Given the description of an element on the screen output the (x, y) to click on. 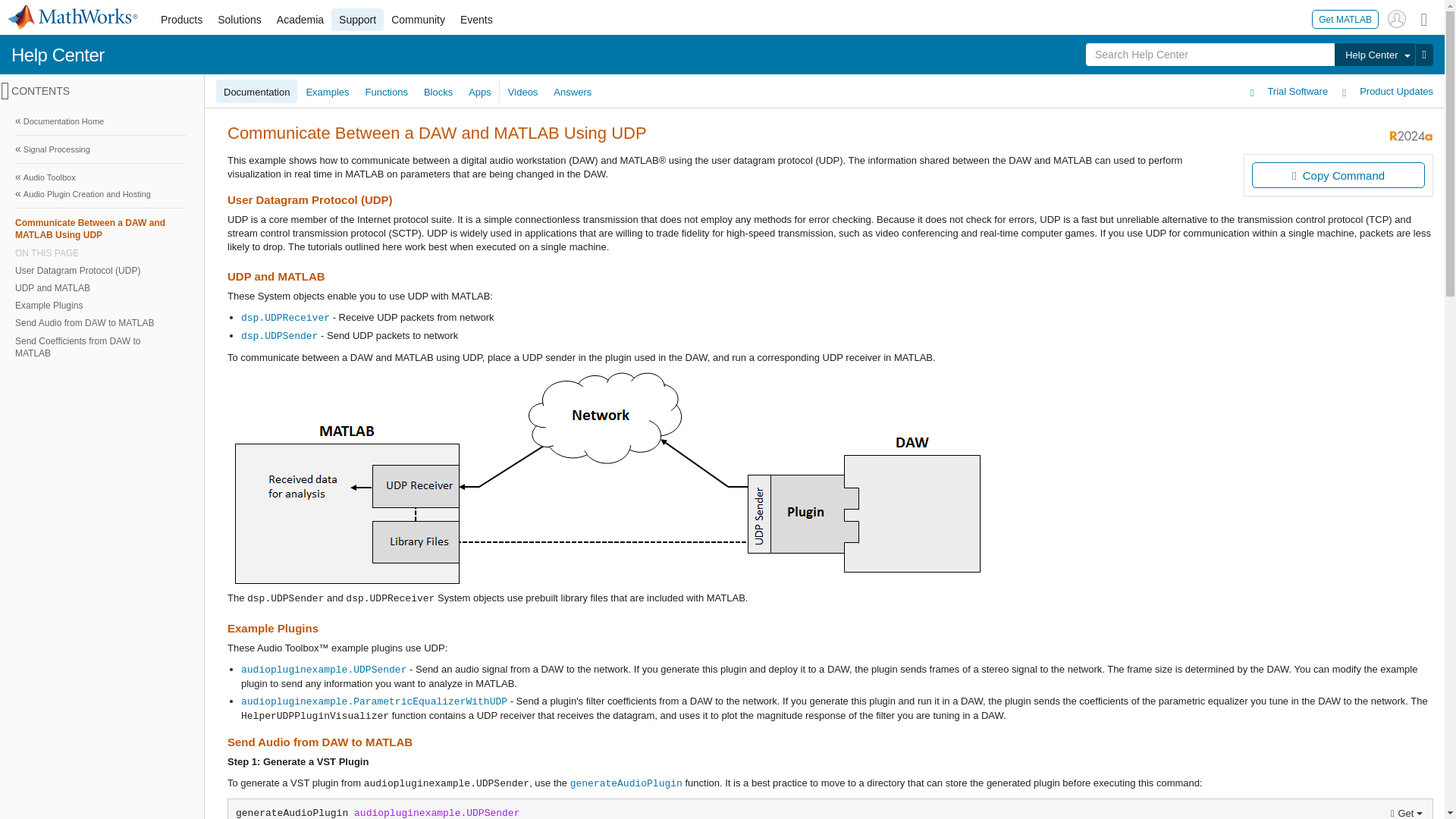
Solutions (239, 19)
Products (180, 19)
Communicate Between a DAW and MATLAB Using UDP (100, 228)
Academia (300, 19)
Sign In to Your MathWorks Account (1396, 18)
Get MATLAB (1344, 18)
ON THIS PAGE (100, 253)
Support (357, 19)
Events (476, 19)
Community (418, 19)
